Given the description of an element on the screen output the (x, y) to click on. 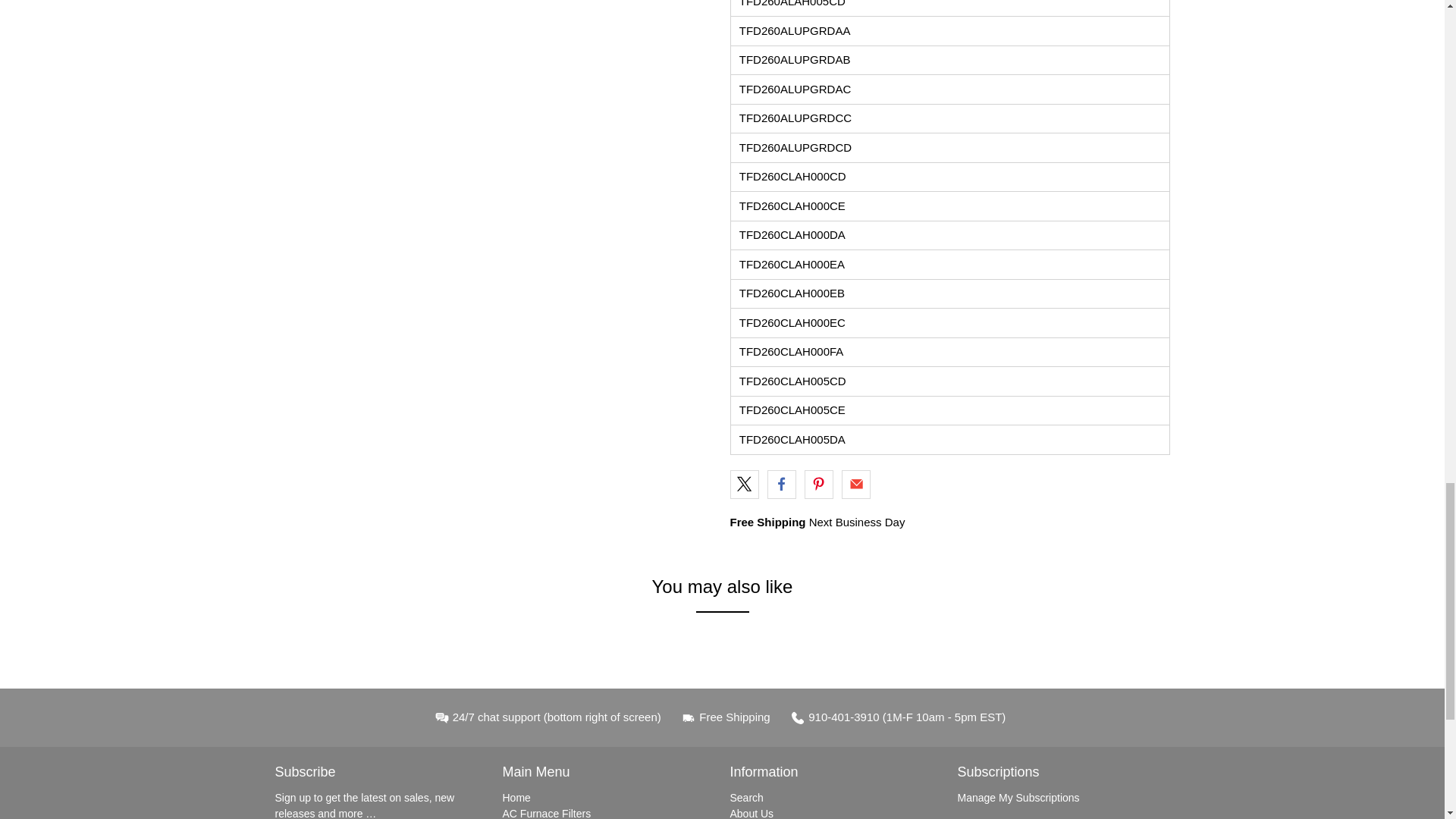
Share this on Facebook (781, 484)
Email this to a friend (855, 484)
Share this on X (743, 484)
Share this on Pinterest (818, 484)
